Given the description of an element on the screen output the (x, y) to click on. 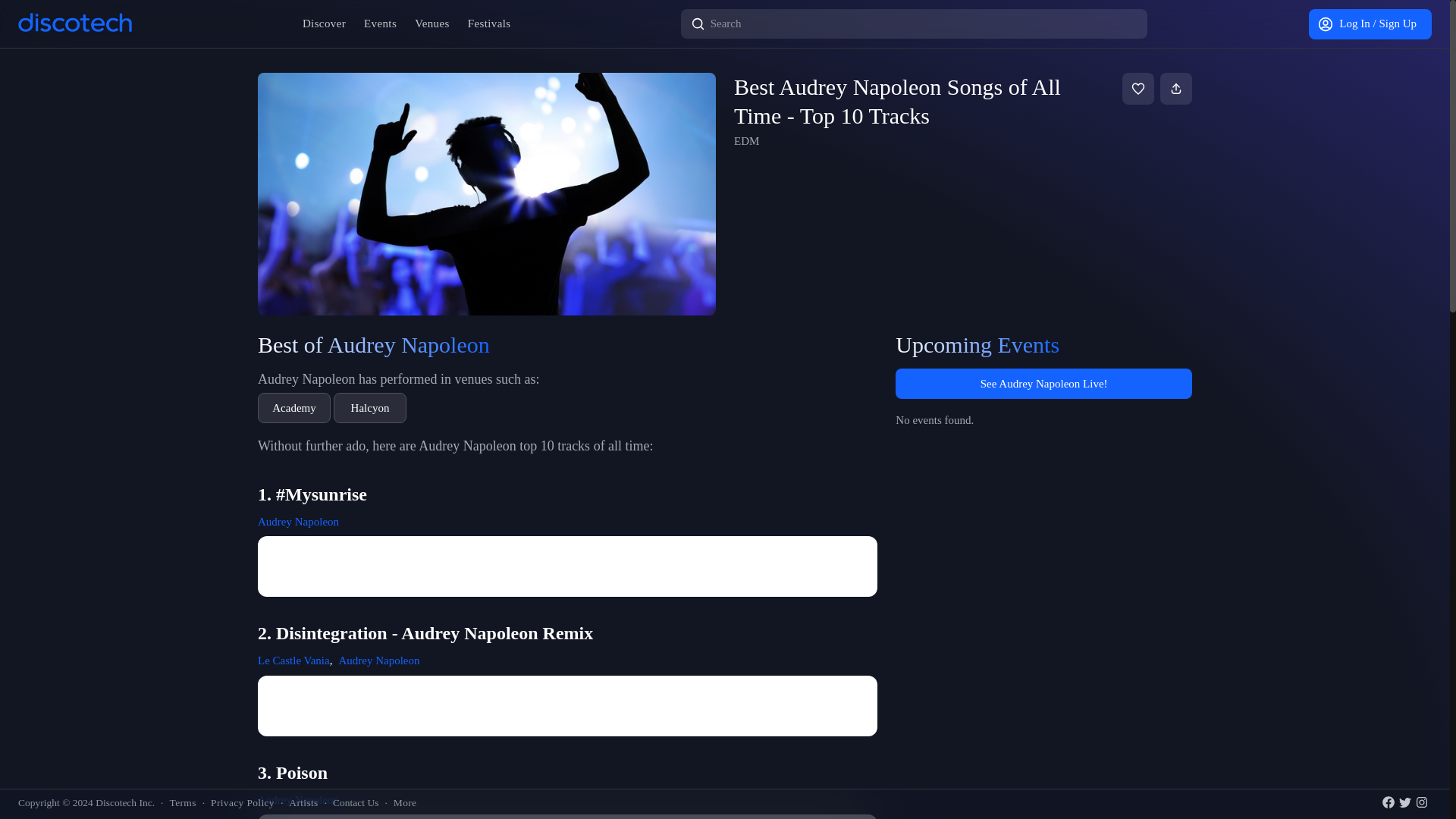
See Audrey Napoleon Live! (1043, 383)
Halcyon (369, 408)
Discover (324, 23)
Audrey Napoleon (298, 799)
Privacy Policy (243, 802)
More (404, 802)
Terms (181, 802)
Audrey Napoleon (298, 521)
Events (380, 23)
Audrey Napoleon (378, 660)
Spotify Web Player (567, 705)
Academy (293, 408)
Le Castle Vania (293, 660)
Venues (432, 23)
